Given the description of an element on the screen output the (x, y) to click on. 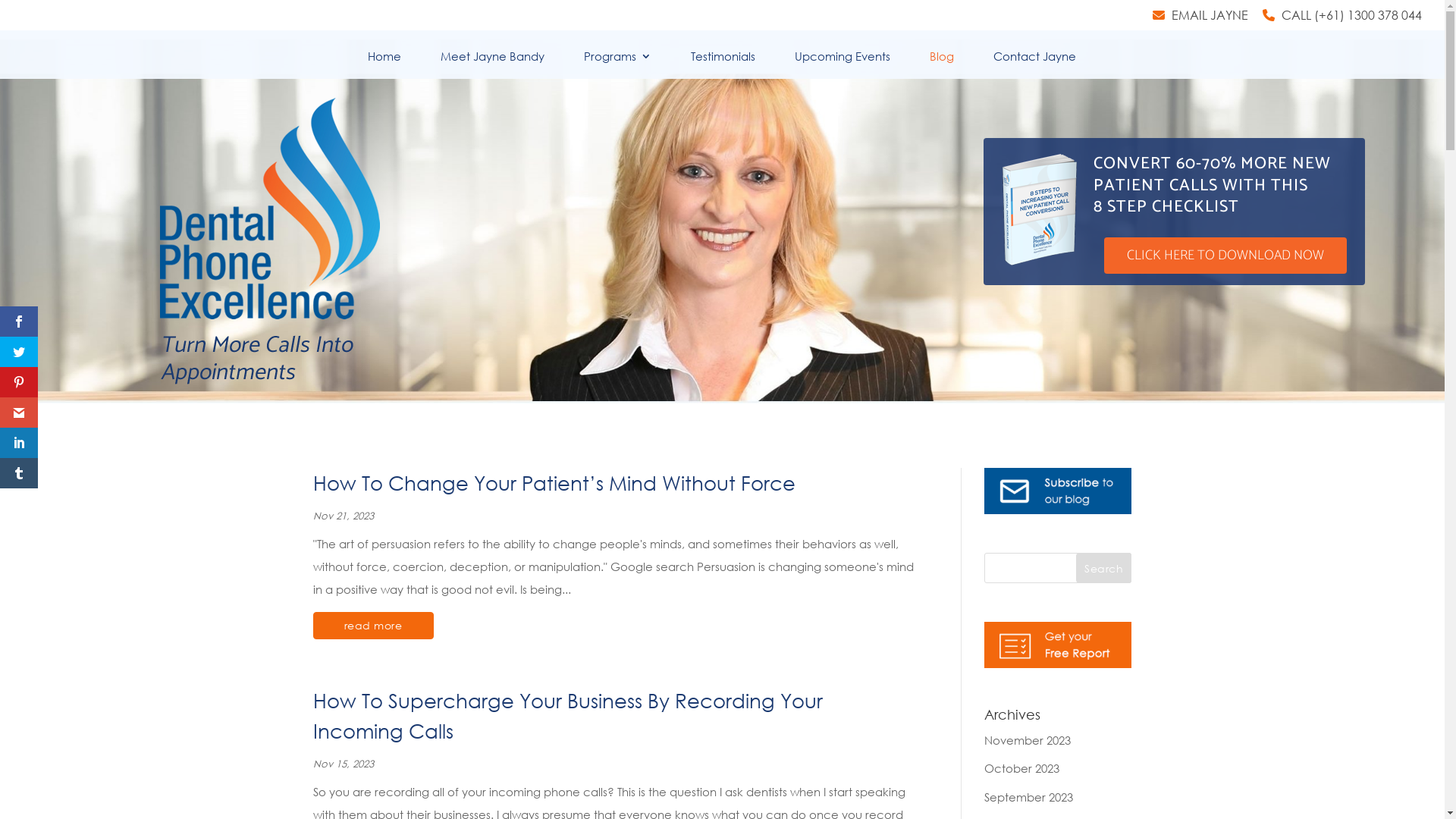
Meet Jayne Bandy Element type: text (491, 64)
Testimonials Element type: text (722, 64)
October 2023 Element type: text (1021, 767)
Search Element type: text (1103, 567)
CLICK HERE TO DOWNLOAD NOW Element type: text (1225, 255)
Home Element type: text (383, 64)
read more Element type: text (372, 625)
Blog Element type: text (941, 64)
EMAIL JAYNE Element type: text (1200, 19)
CALL (+61) 1300 378 044 Element type: text (1341, 19)
Upcoming Events Element type: text (842, 64)
Programs Element type: text (617, 64)
Contact Jayne Element type: text (1034, 64)
November 2023 Element type: text (1027, 739)
September 2023 Element type: text (1028, 796)
